Given the description of an element on the screen output the (x, y) to click on. 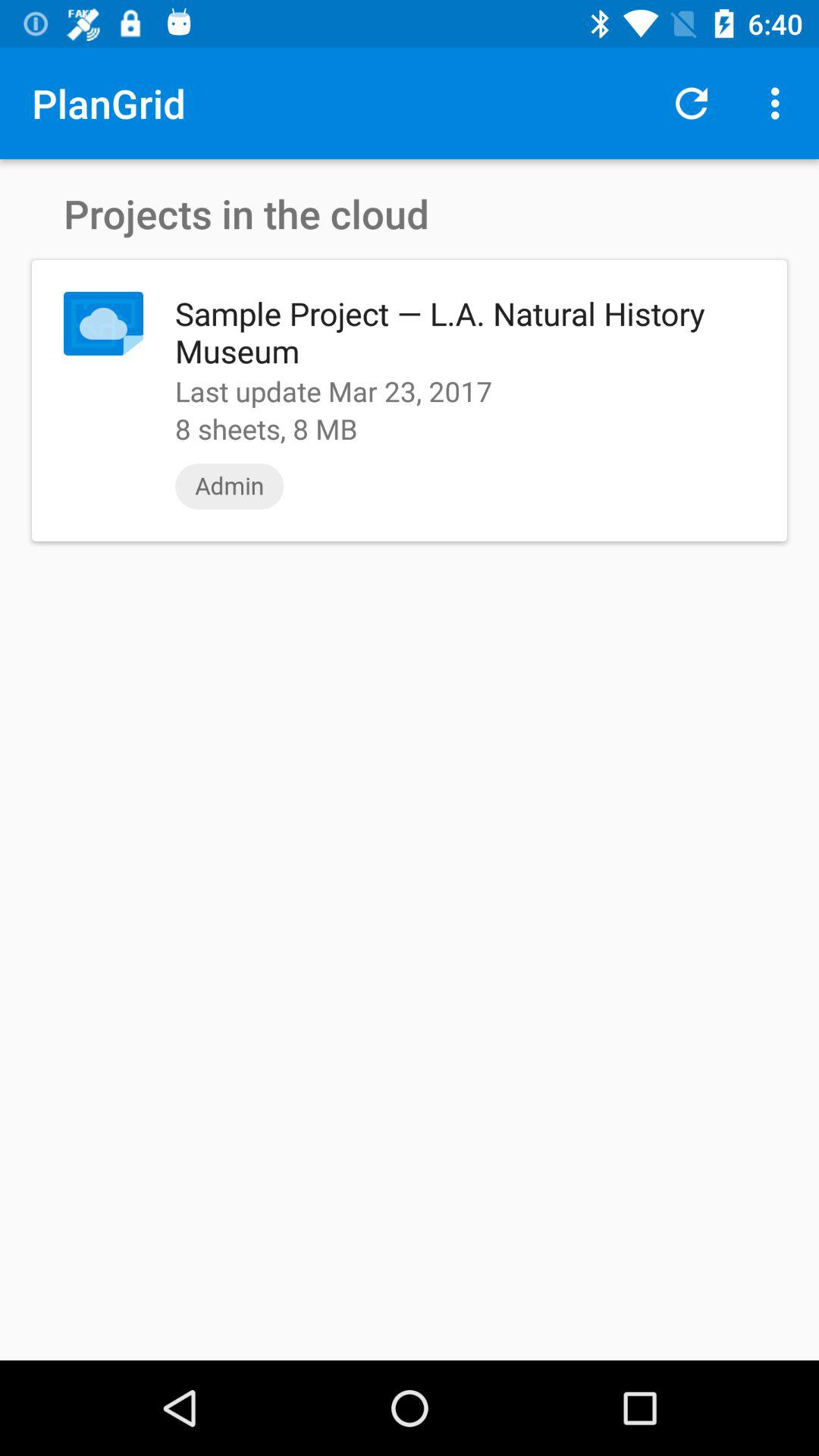
select icon next to plangrid (691, 103)
